Given the description of an element on the screen output the (x, y) to click on. 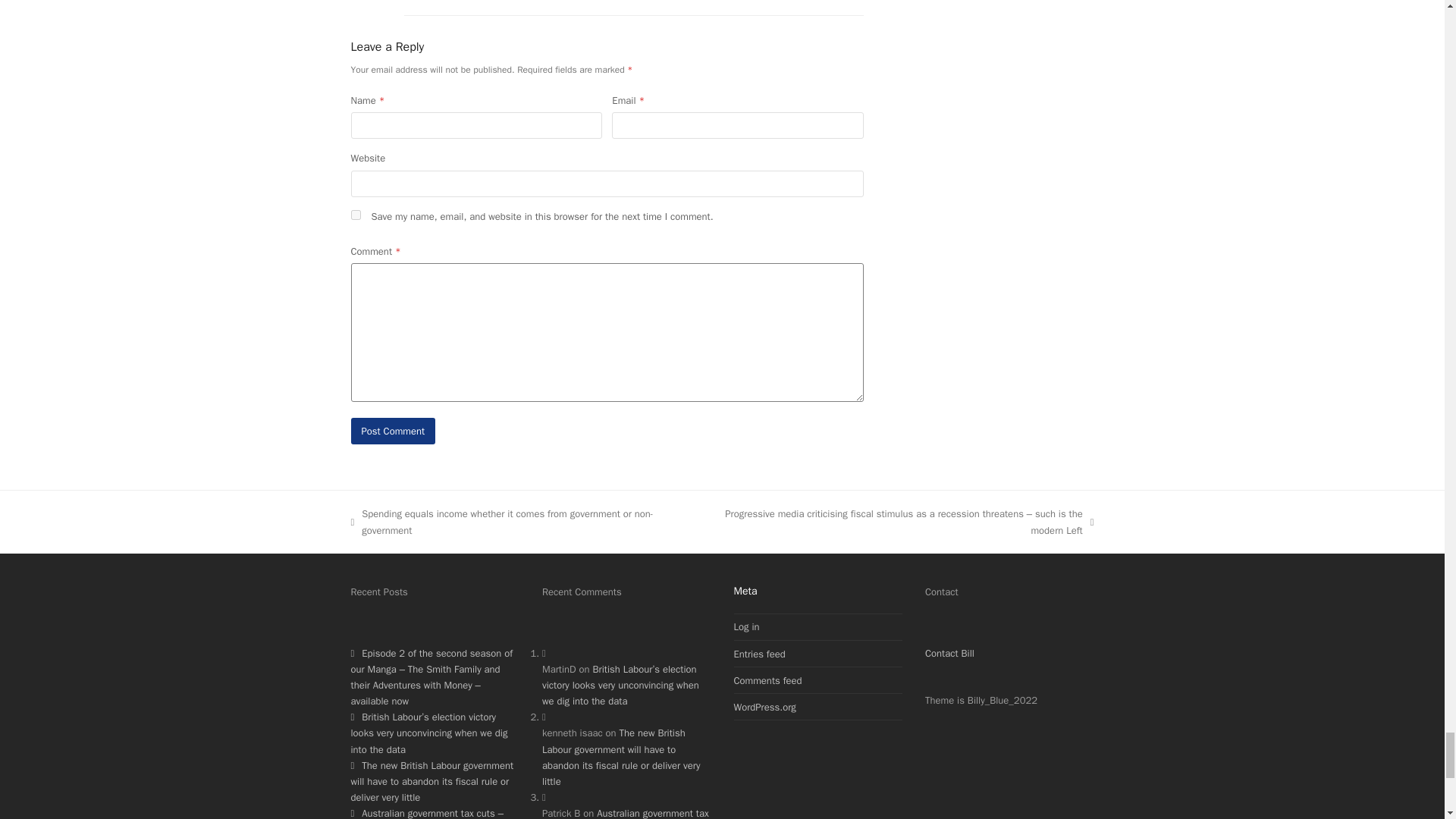
yes (354, 214)
Post Comment (392, 430)
